Given the description of an element on the screen output the (x, y) to click on. 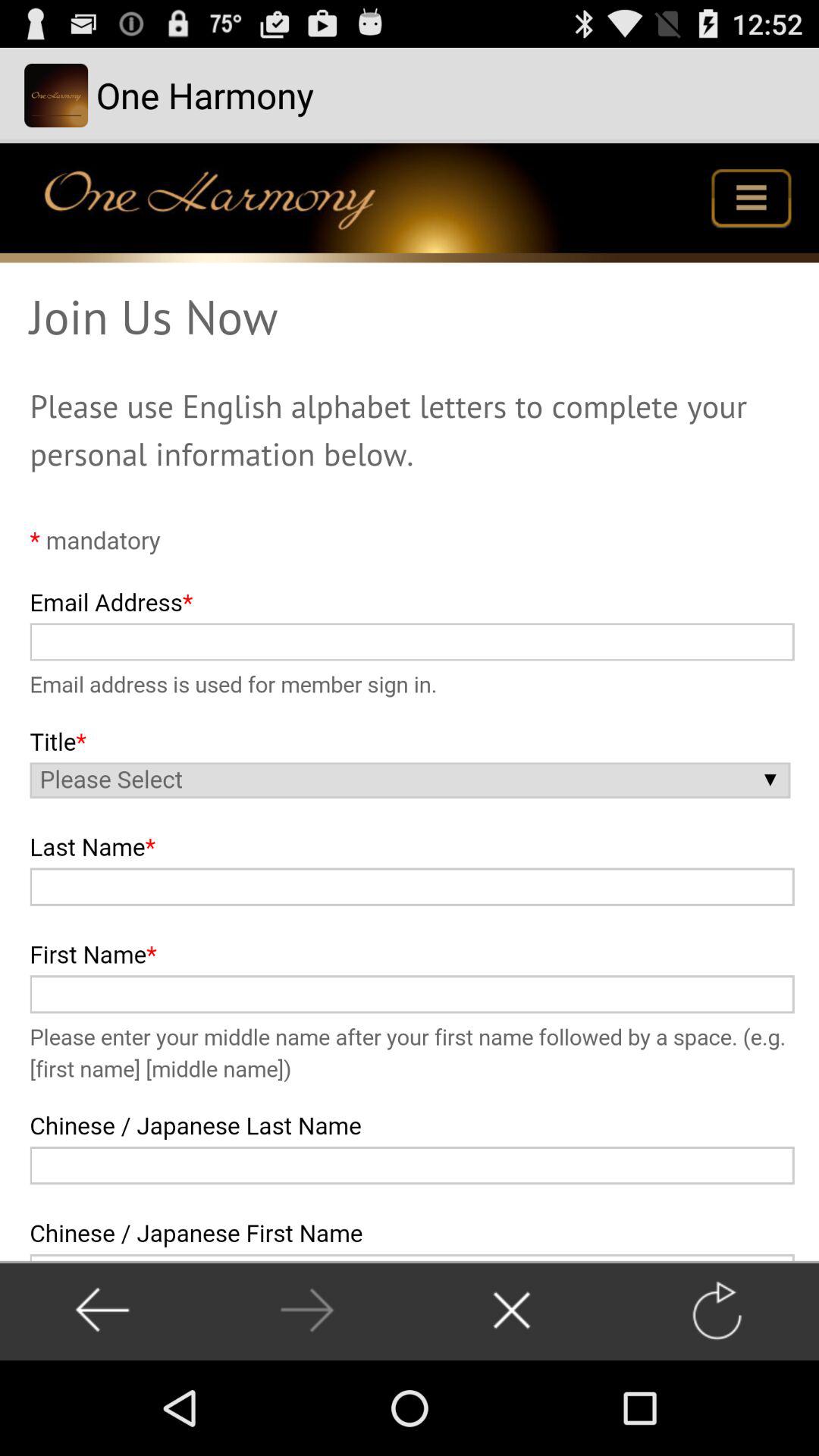
go to next (306, 1310)
